Given the description of an element on the screen output the (x, y) to click on. 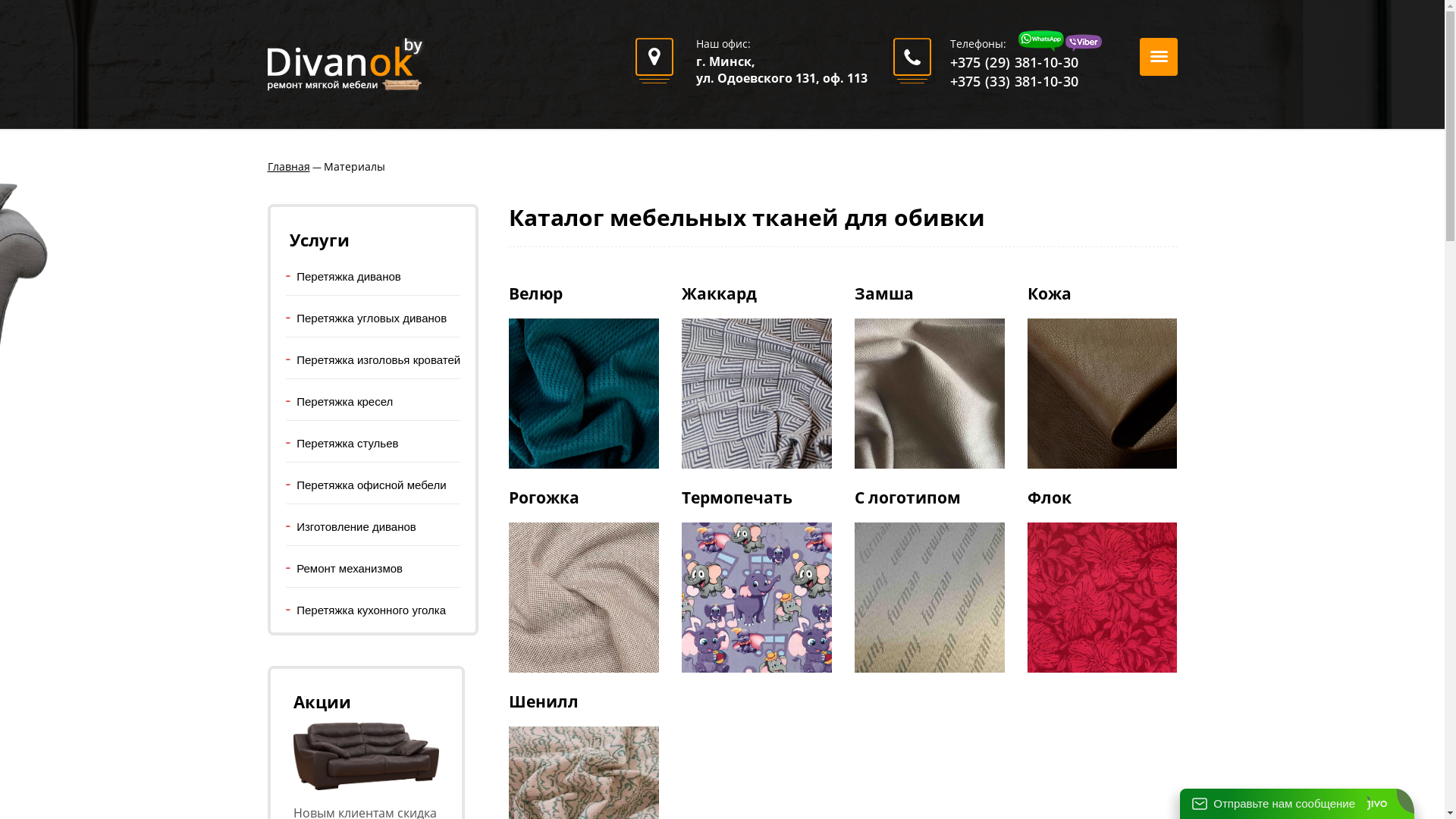
+375 (33) 381-10-30 Element type: text (1013, 81)
+375 (29) 381-10-30 Element type: text (1013, 62)
